Given the description of an element on the screen output the (x, y) to click on. 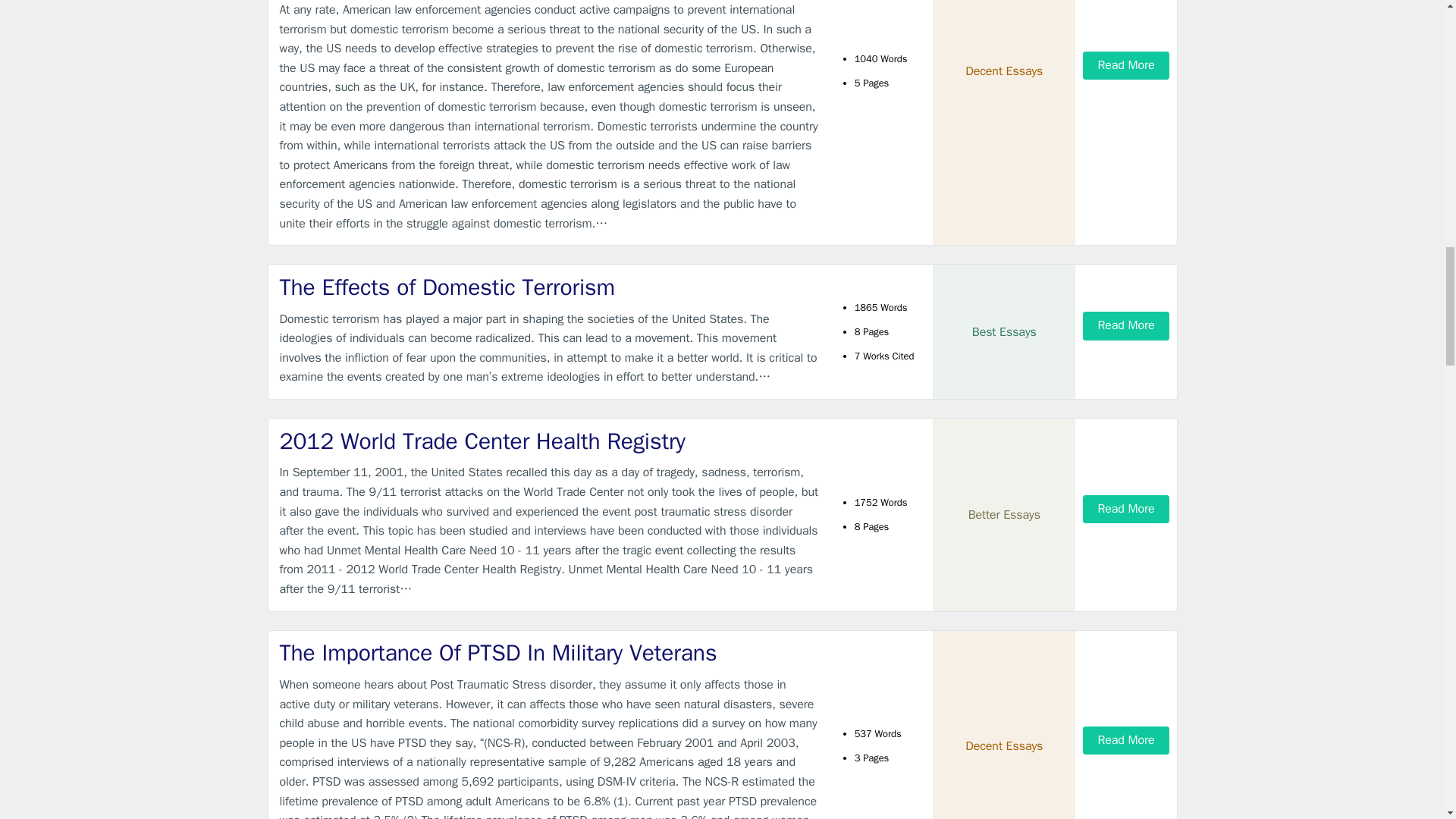
Read More (1126, 325)
2012 World Trade Center Health Registry (548, 441)
The Effects of Domestic Terrorism (548, 287)
Read More (1126, 65)
Read More (1126, 740)
Read More (1126, 509)
The Importance Of PTSD In Military Veterans (548, 653)
